Given the description of an element on the screen output the (x, y) to click on. 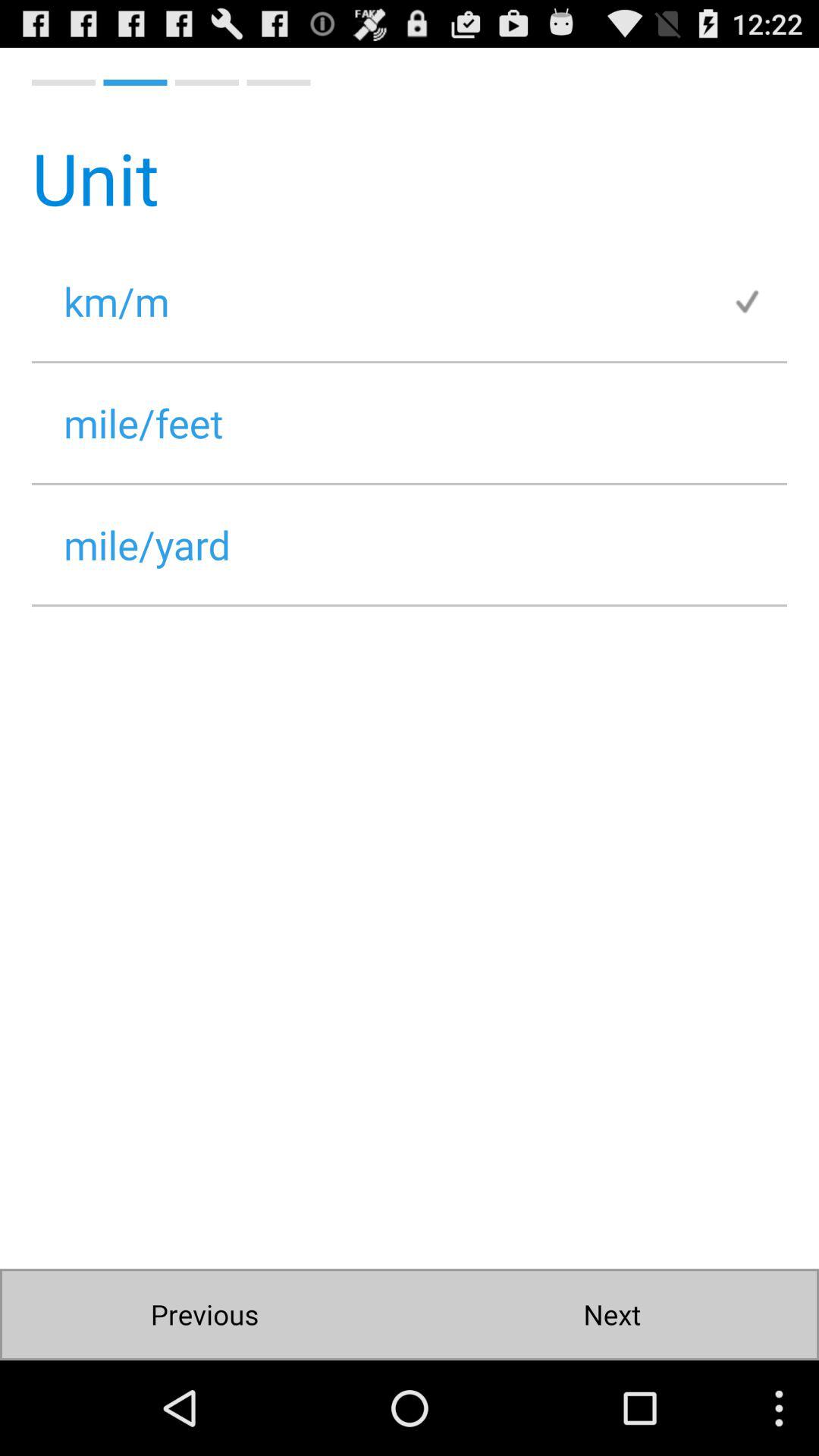
launch previous (204, 1314)
